Given the description of an element on the screen output the (x, y) to click on. 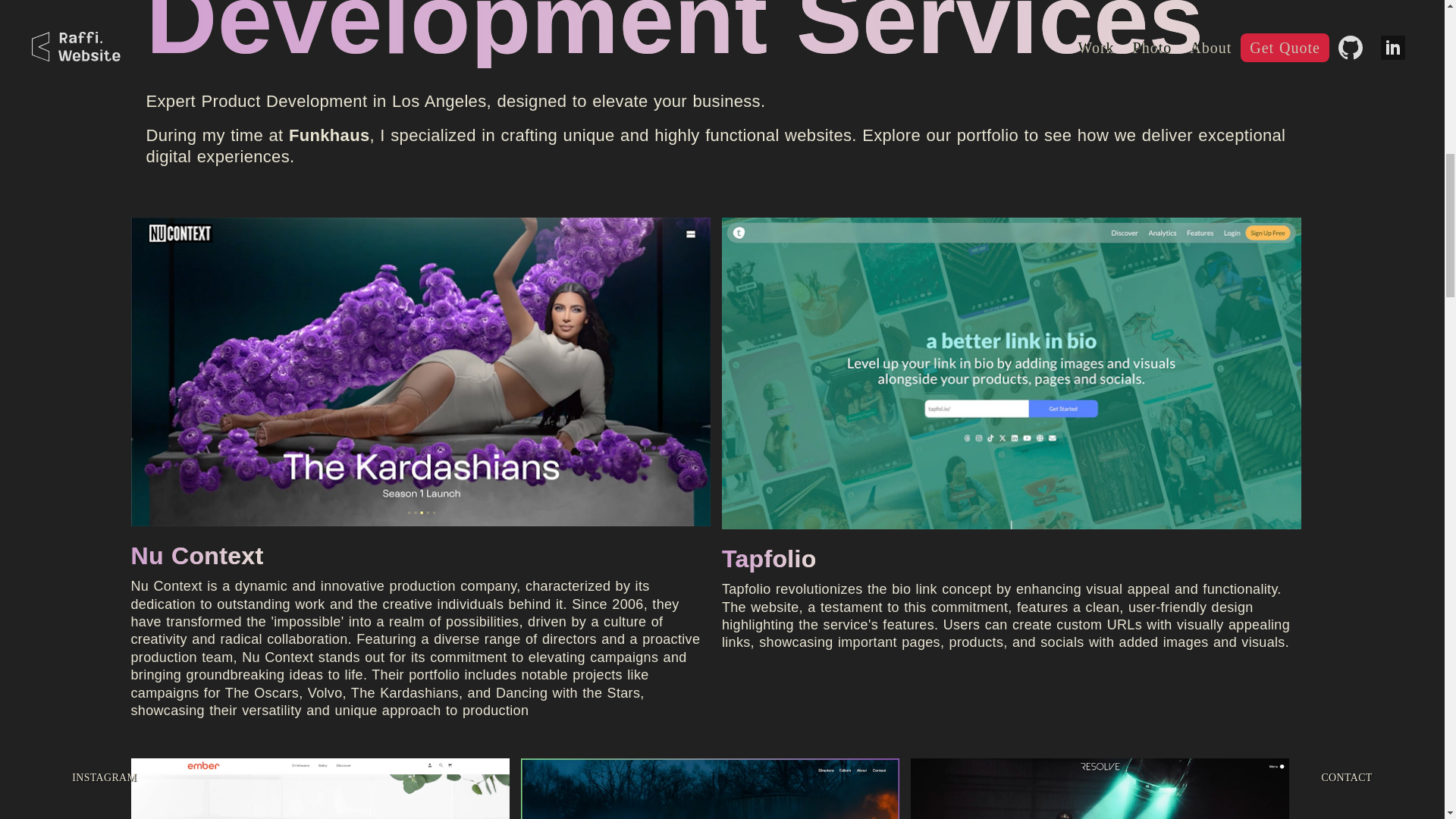
Funkhaus (328, 135)
